Given the description of an element on the screen output the (x, y) to click on. 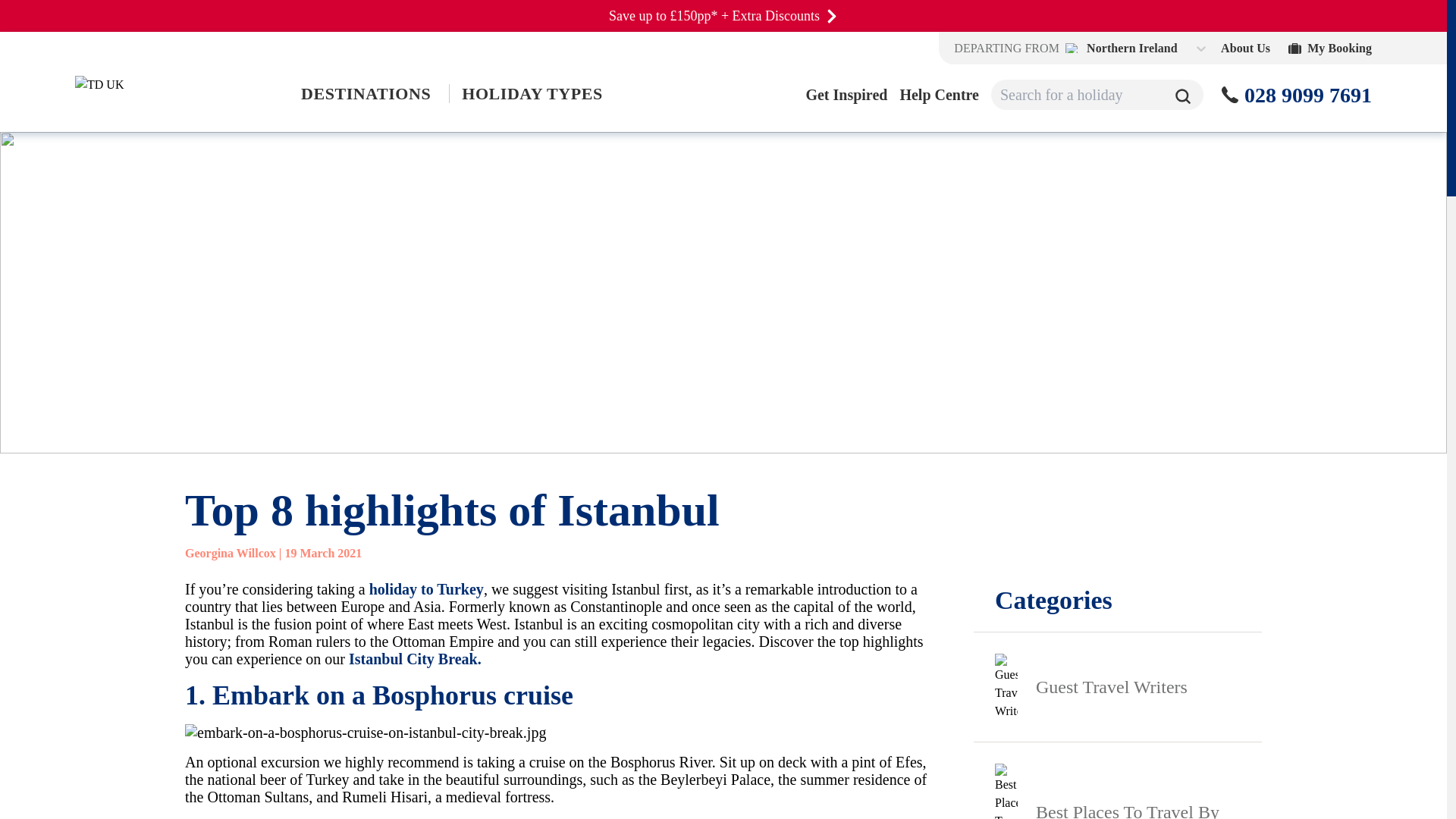
DESTINATIONS (365, 93)
About Us (1245, 48)
Istanbul City Break. (415, 658)
Get Inspired (845, 94)
Guest Travel Writers (1118, 686)
Best Places To Travel By Month (1118, 780)
HOLIDAY TYPES (531, 93)
My Booking (1329, 48)
Help Centre (938, 94)
holiday to Turkey (426, 588)
